Given the description of an element on the screen output the (x, y) to click on. 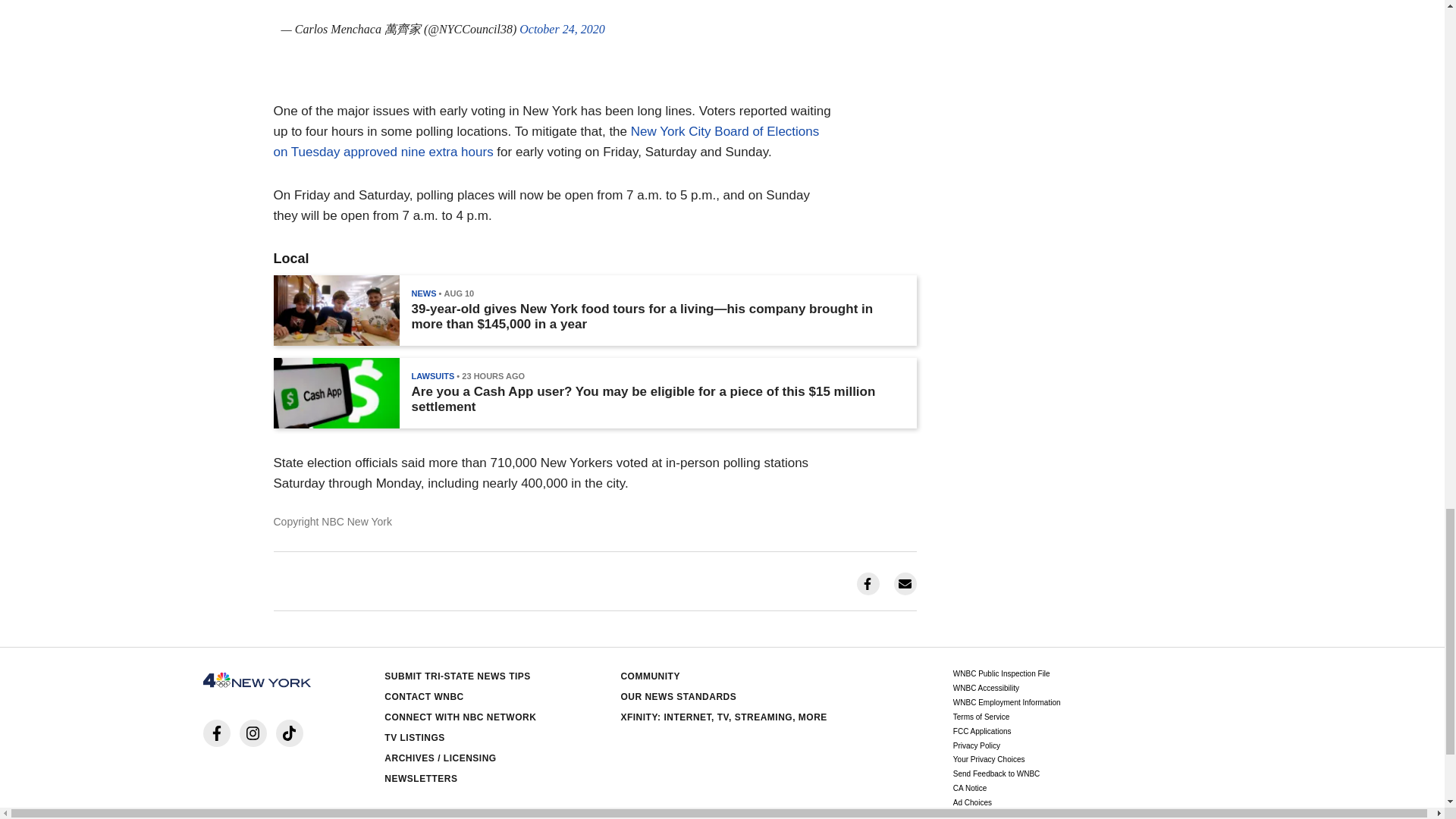
LAWSUITS (432, 375)
October 24, 2020 (561, 29)
NEWS (422, 293)
